Given the description of an element on the screen output the (x, y) to click on. 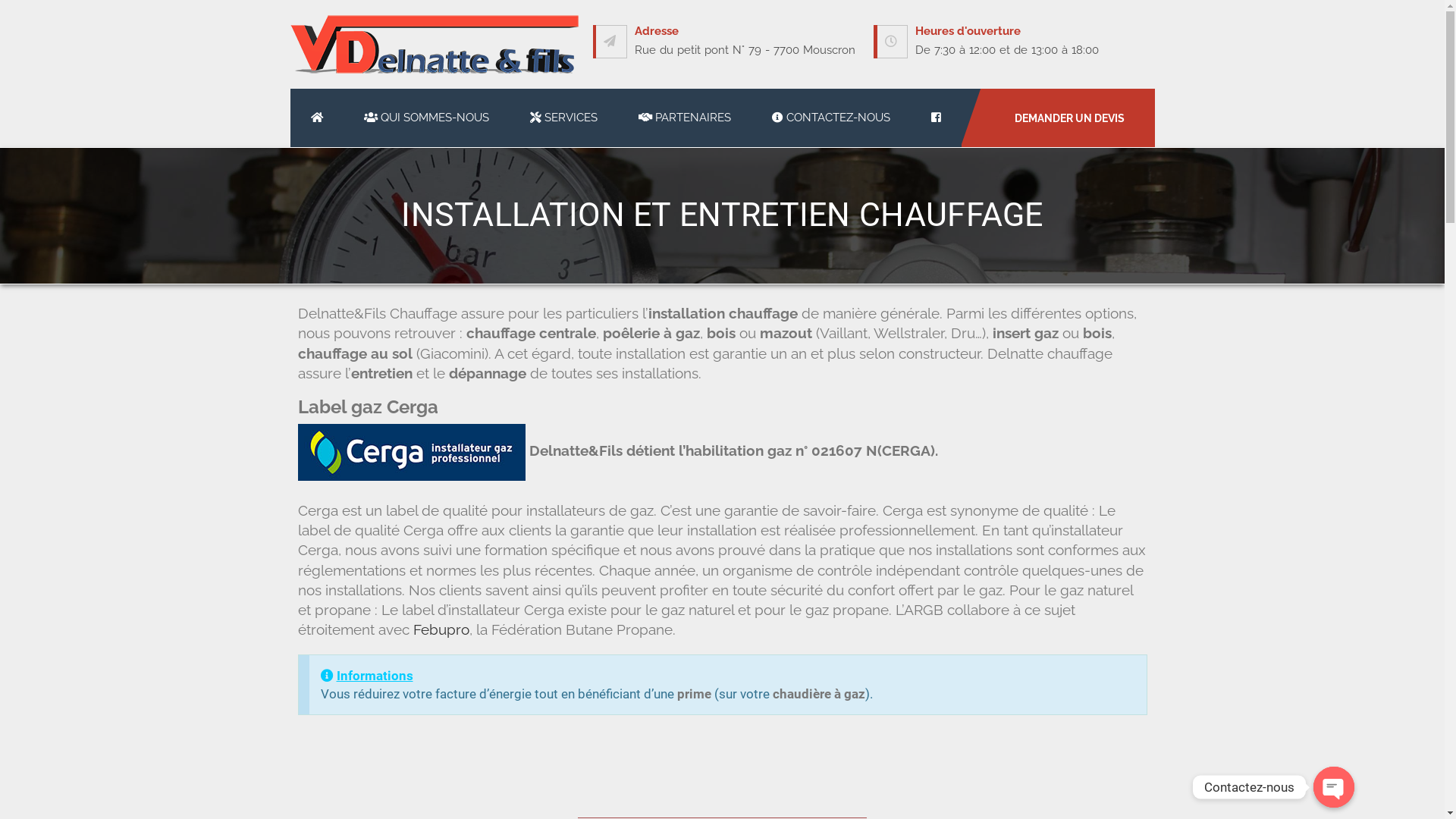
DEMANDER UN DEVIS Element type: text (1057, 117)
Febupro Element type: text (440, 629)
SERVICES Element type: text (563, 116)
QUI SOMMES-NOUS Element type: text (425, 116)
CONTACTEZ-NOUS Element type: text (830, 116)
PARTENAIRES Element type: text (683, 116)
